Given the description of an element on the screen output the (x, y) to click on. 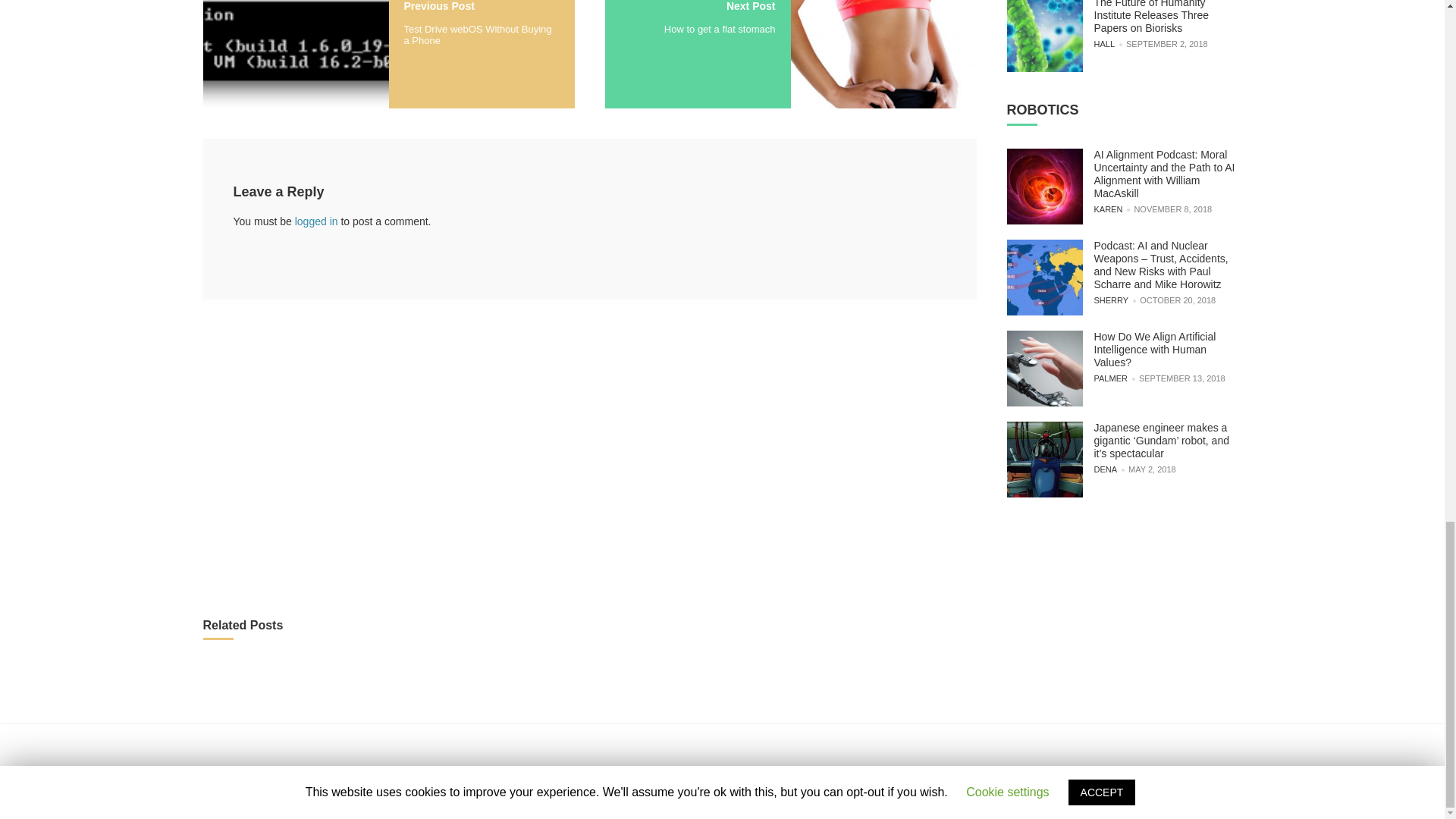
Previous Post (438, 6)
Next Post (751, 6)
logged in (316, 221)
